Given the description of an element on the screen output the (x, y) to click on. 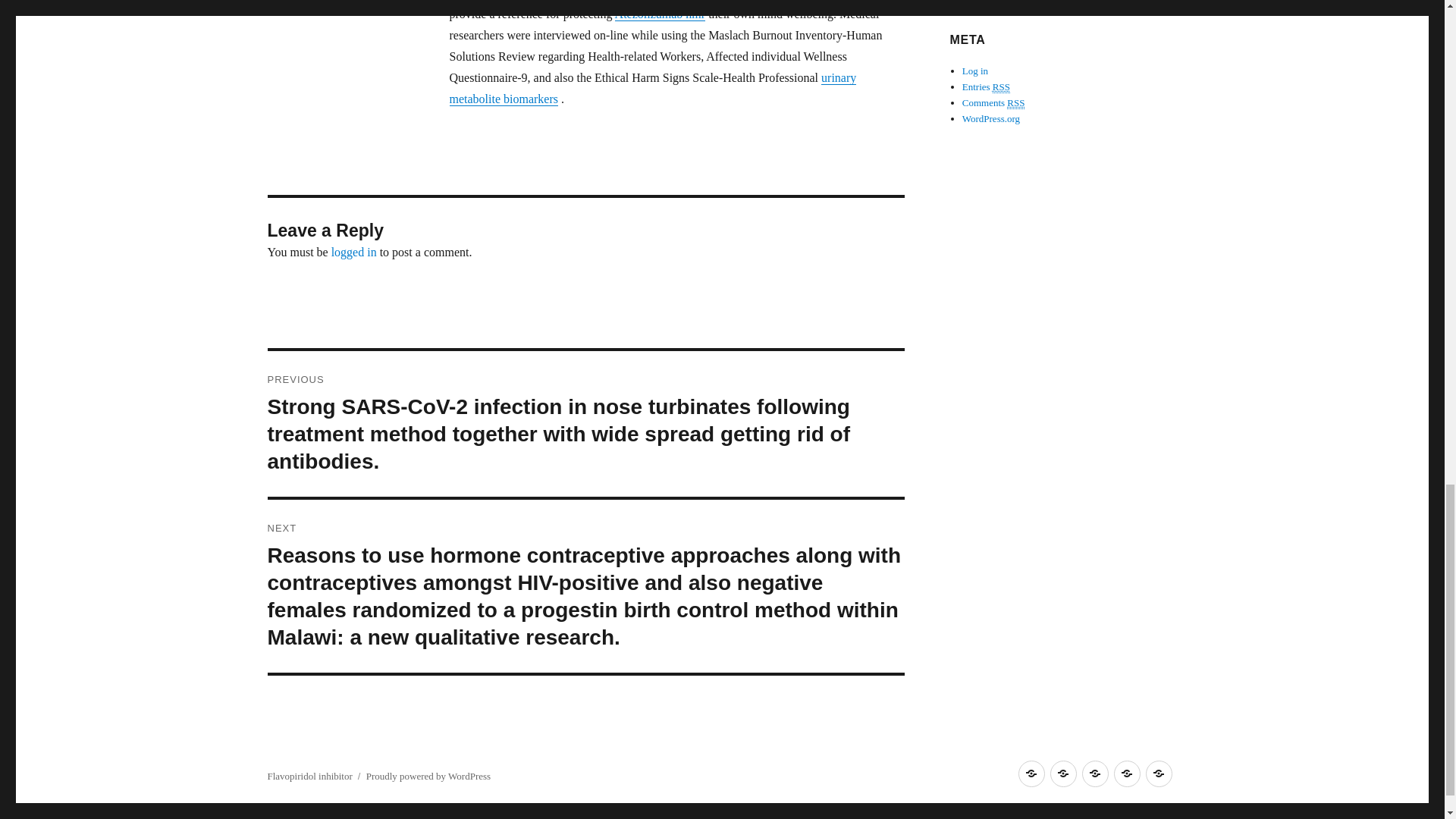
Really Simple Syndication (1001, 87)
urinary metabolite biomarkers (652, 88)
Atezolizumab nmr (660, 13)
Really Simple Syndication (1016, 102)
logged in (354, 251)
